Given the description of an element on the screen output the (x, y) to click on. 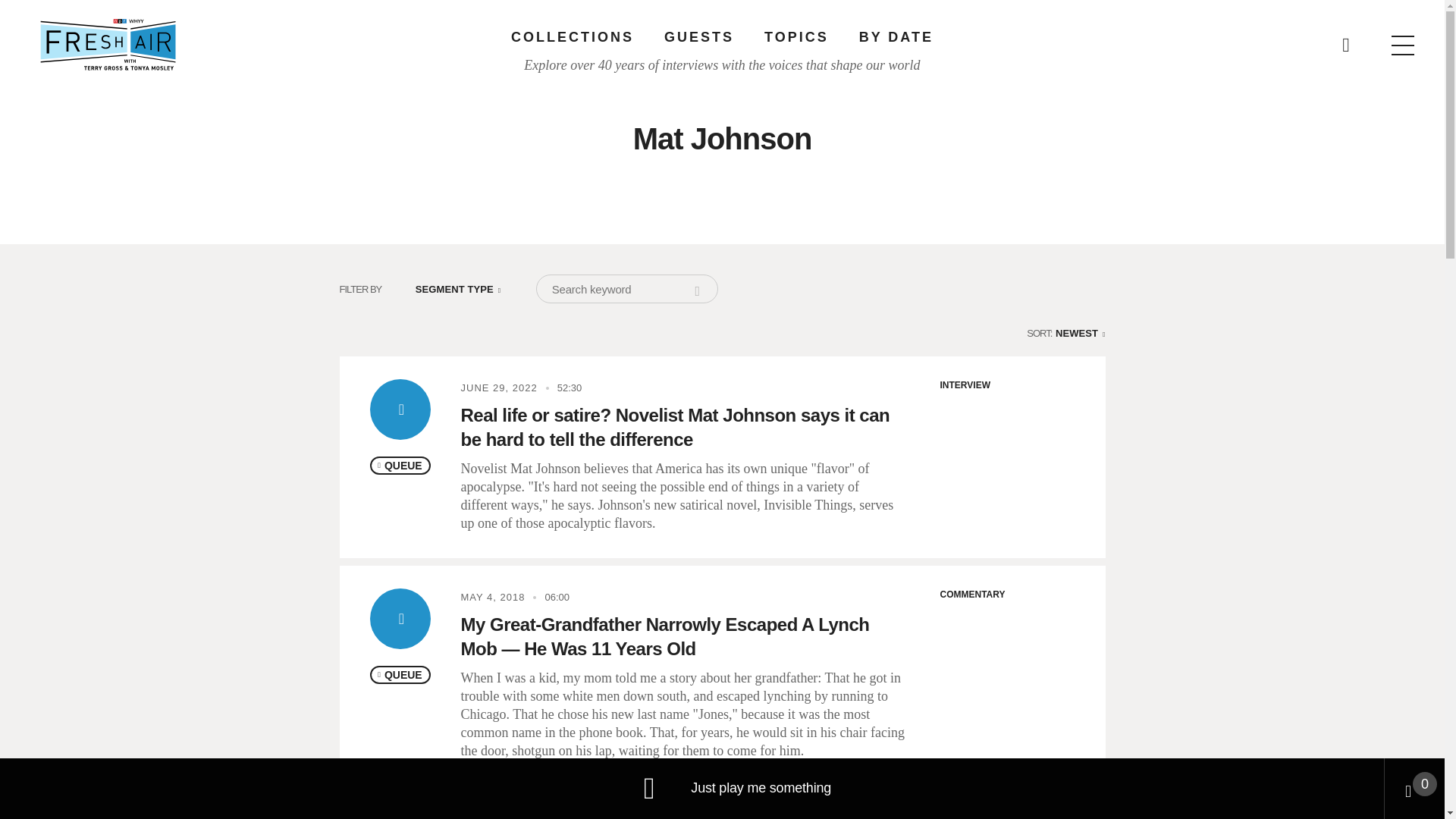
Search (705, 297)
Home (108, 44)
BY DATE (896, 36)
COLLECTIONS (572, 36)
TOPICS (796, 36)
Search (964, 37)
QUEUE (399, 465)
GUESTS (698, 36)
Search (705, 297)
